Given the description of an element on the screen output the (x, y) to click on. 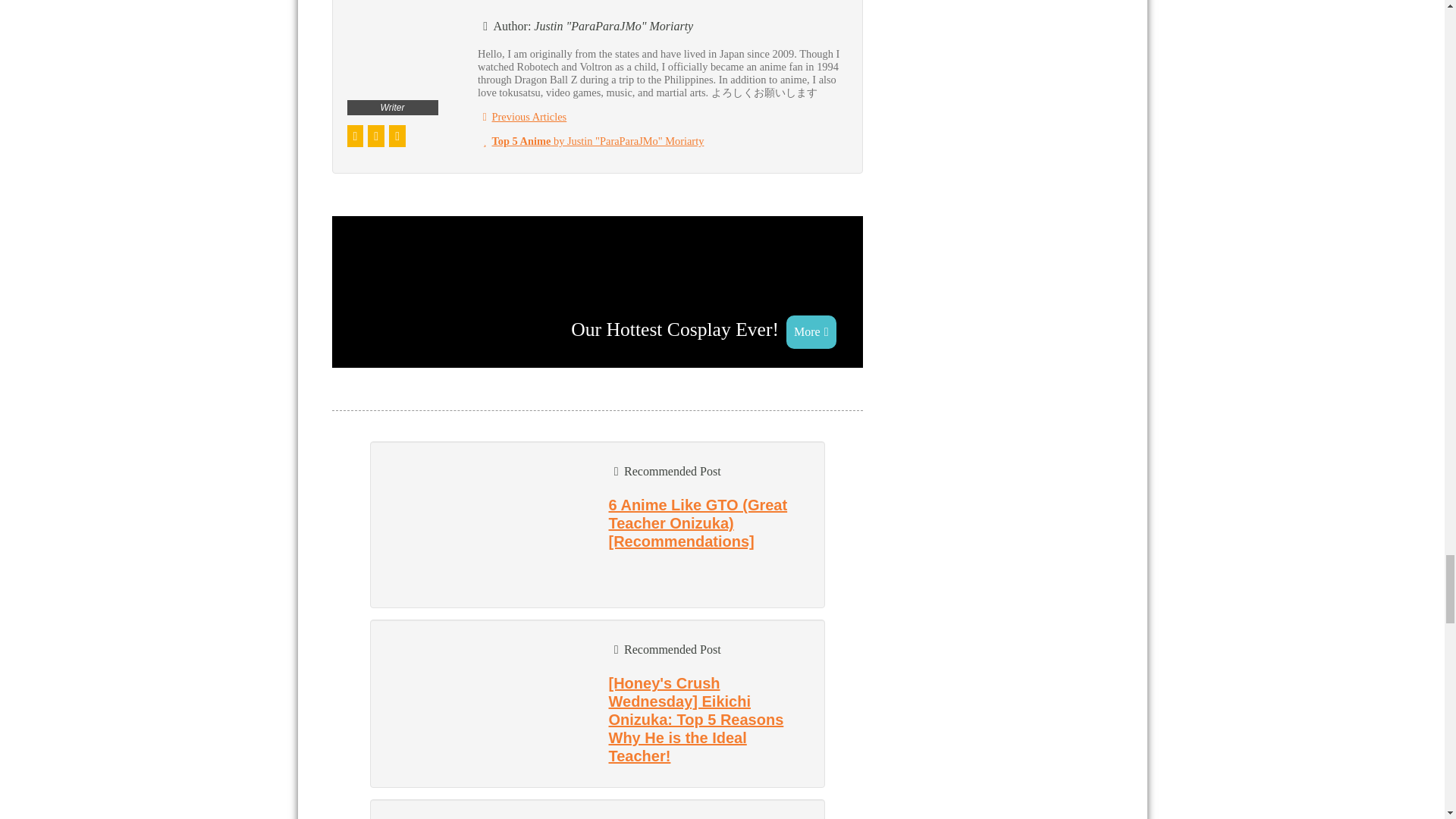
Top 5 Anime by Justin "ParaParaJMo" Moriarty (590, 141)
Previous Articles (521, 116)
